Given the description of an element on the screen output the (x, y) to click on. 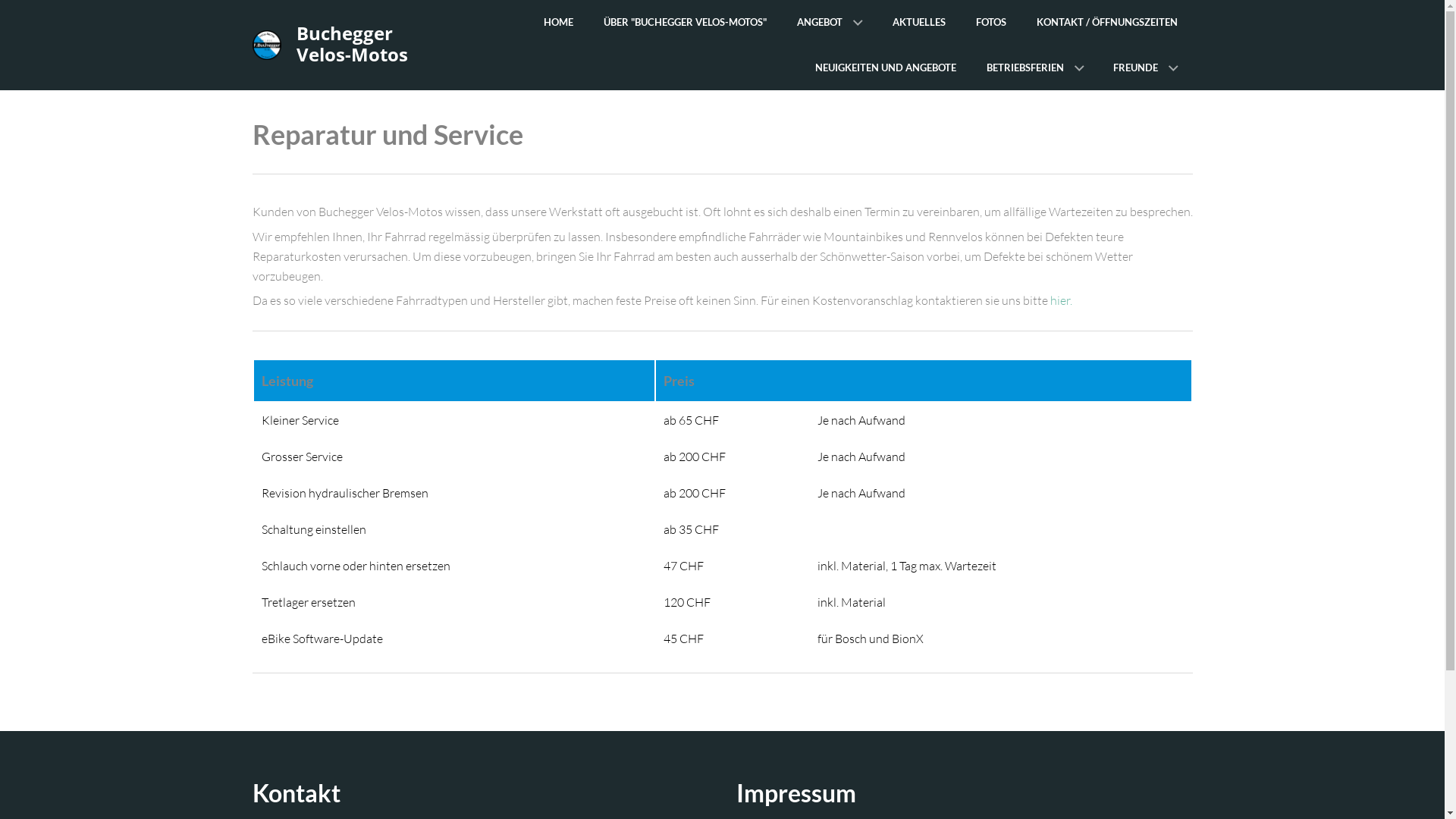
FOTOS Element type: text (990, 22)
AKTUELLES Element type: text (918, 22)
Buchegger Velos-Motos Element type: text (351, 42)
hier. Element type: text (1060, 299)
HOME Element type: text (558, 22)
NEUIGKEITEN UND ANGEBOTE Element type: text (884, 68)
